Given the description of an element on the screen output the (x, y) to click on. 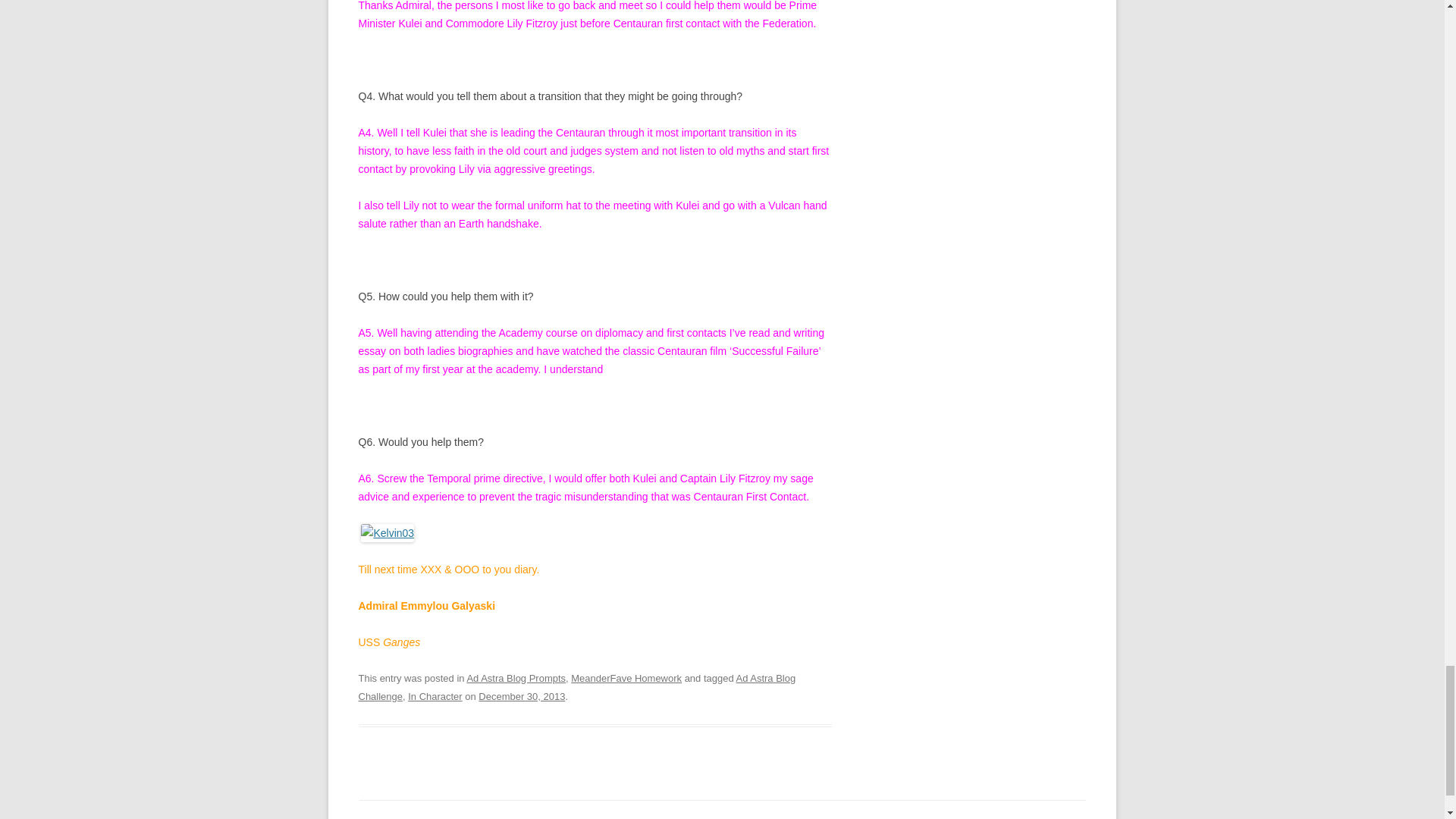
MeanderFave Homework (625, 677)
December 30, 2013 (521, 696)
Ad Astra Blog Prompts (515, 677)
Ad Astra Blog Challenge (576, 686)
In Character (434, 696)
9:04 pm (521, 696)
